Given the description of an element on the screen output the (x, y) to click on. 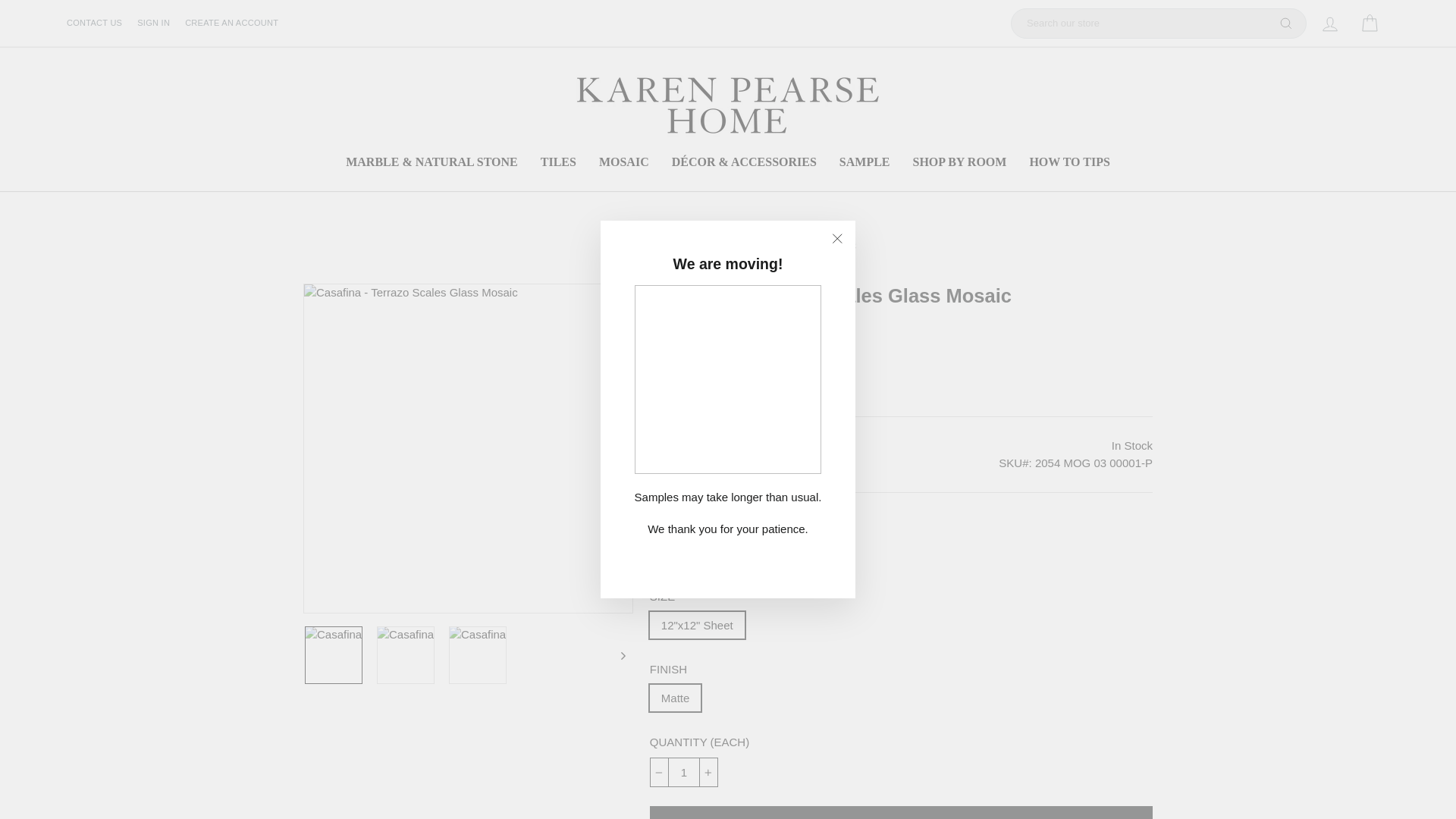
1 (683, 772)
Back to the frontpage (613, 245)
